Given the description of an element on the screen output the (x, y) to click on. 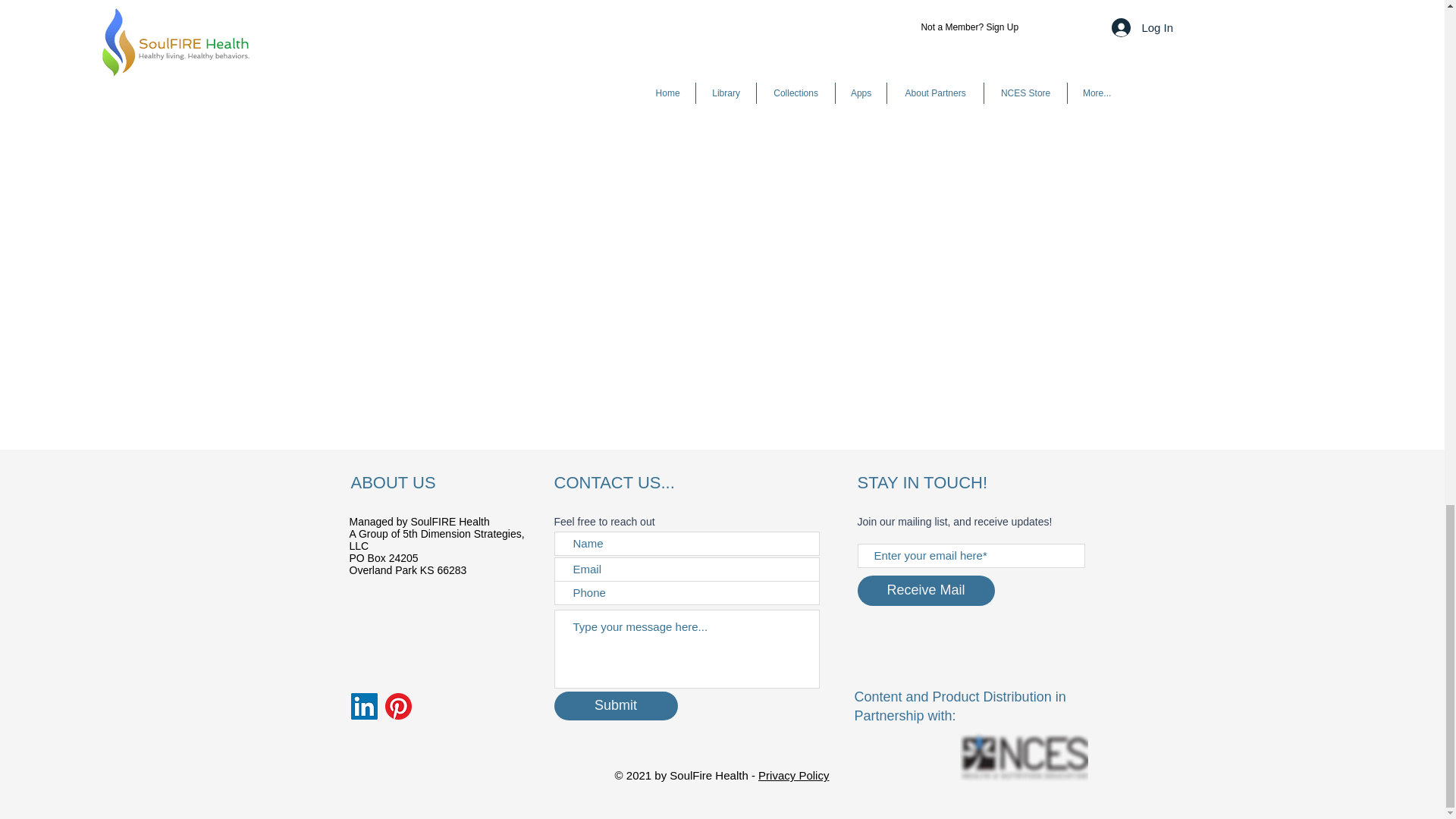
Privacy Policy (793, 775)
Receive Mail (925, 590)
Submit (615, 705)
